Given the description of an element on the screen output the (x, y) to click on. 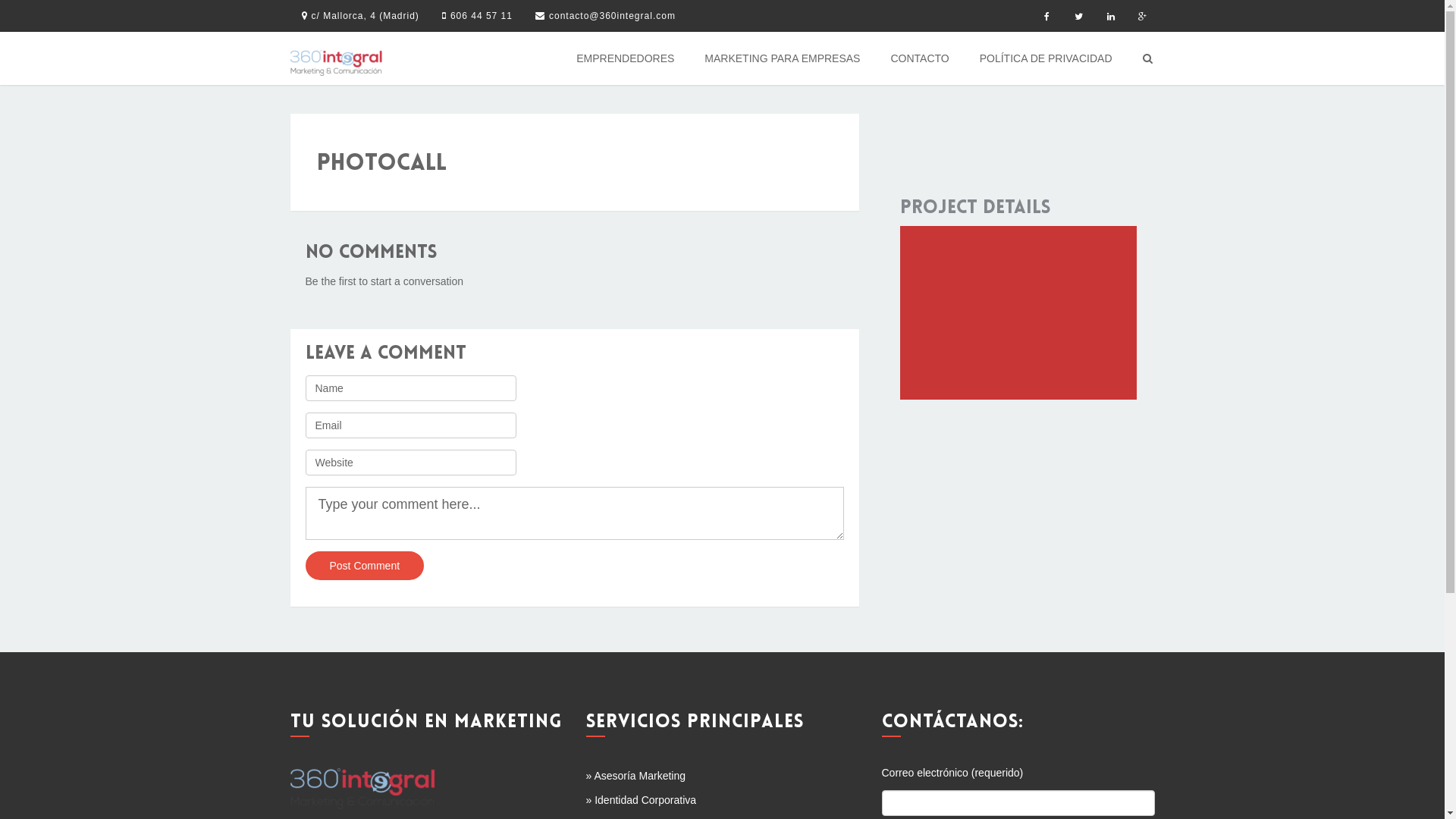
Post Comment Element type: text (363, 565)
MARKETING PARA EMPRESAS Element type: text (781, 58)
CONTACTO Element type: text (919, 58)
EMPRENDEDORES Element type: text (625, 58)
